Given the description of an element on the screen output the (x, y) to click on. 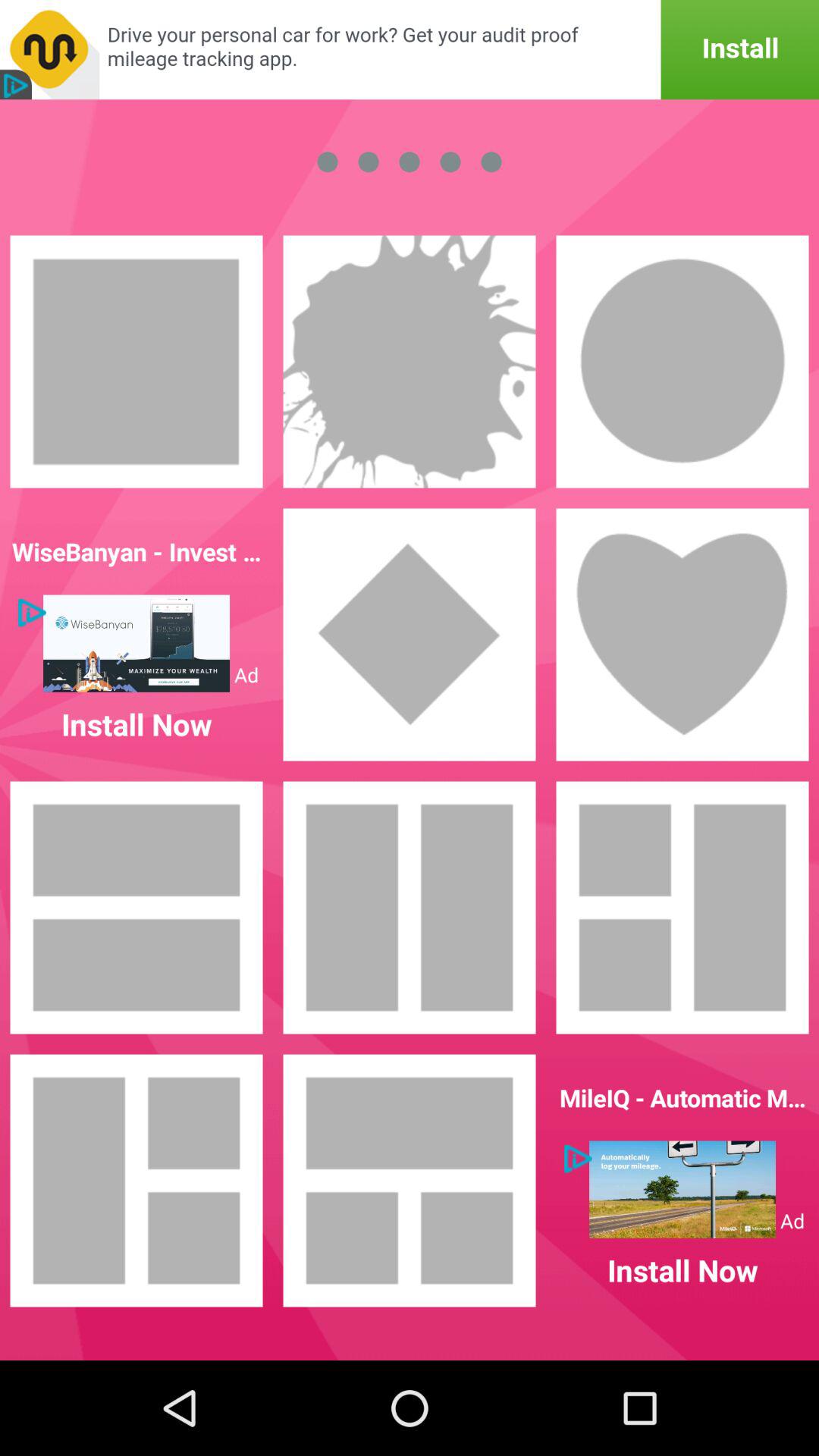
view advertisement (409, 49)
